Given the description of an element on the screen output the (x, y) to click on. 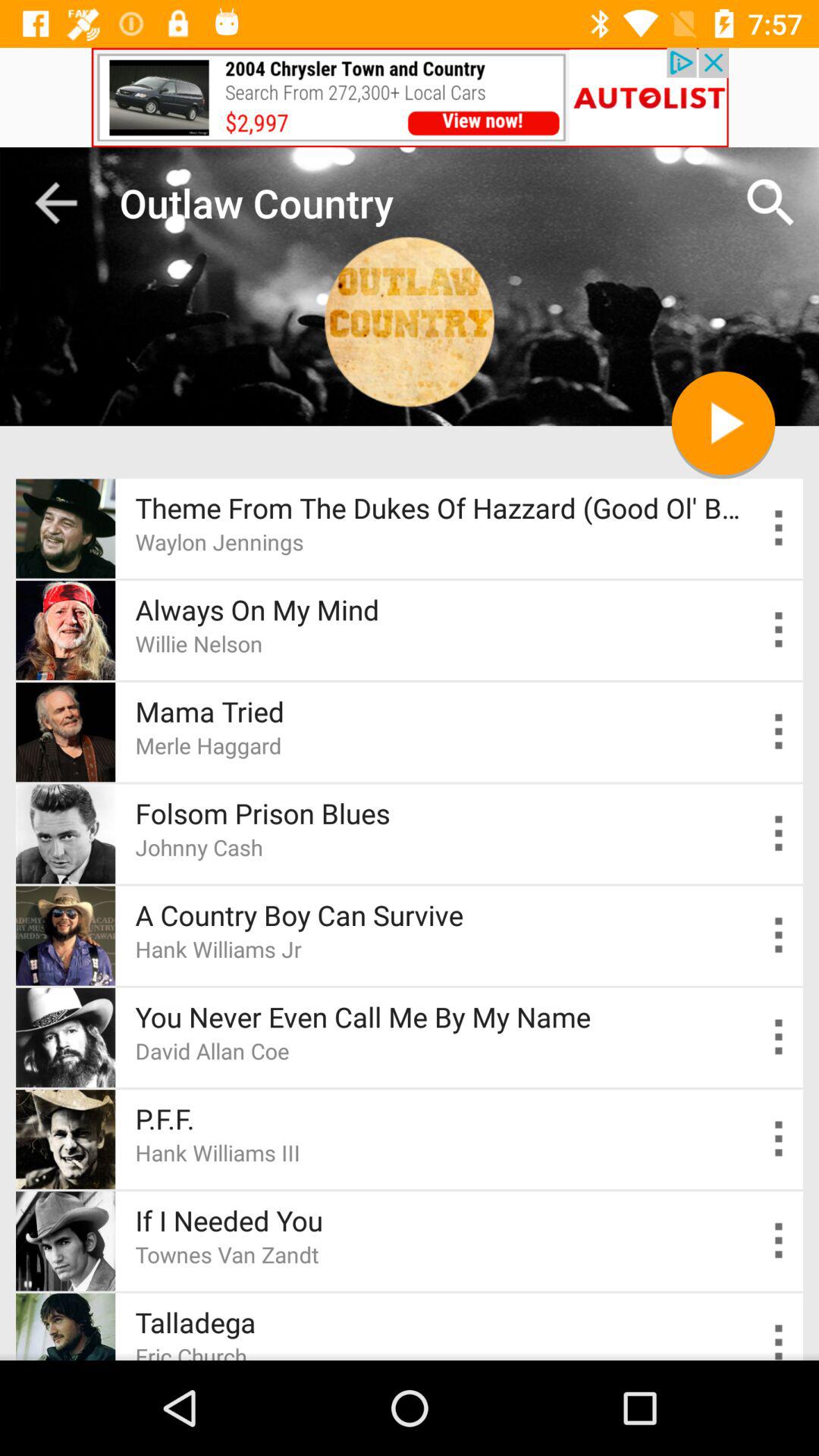
more options (779, 1339)
